Given the description of an element on the screen output the (x, y) to click on. 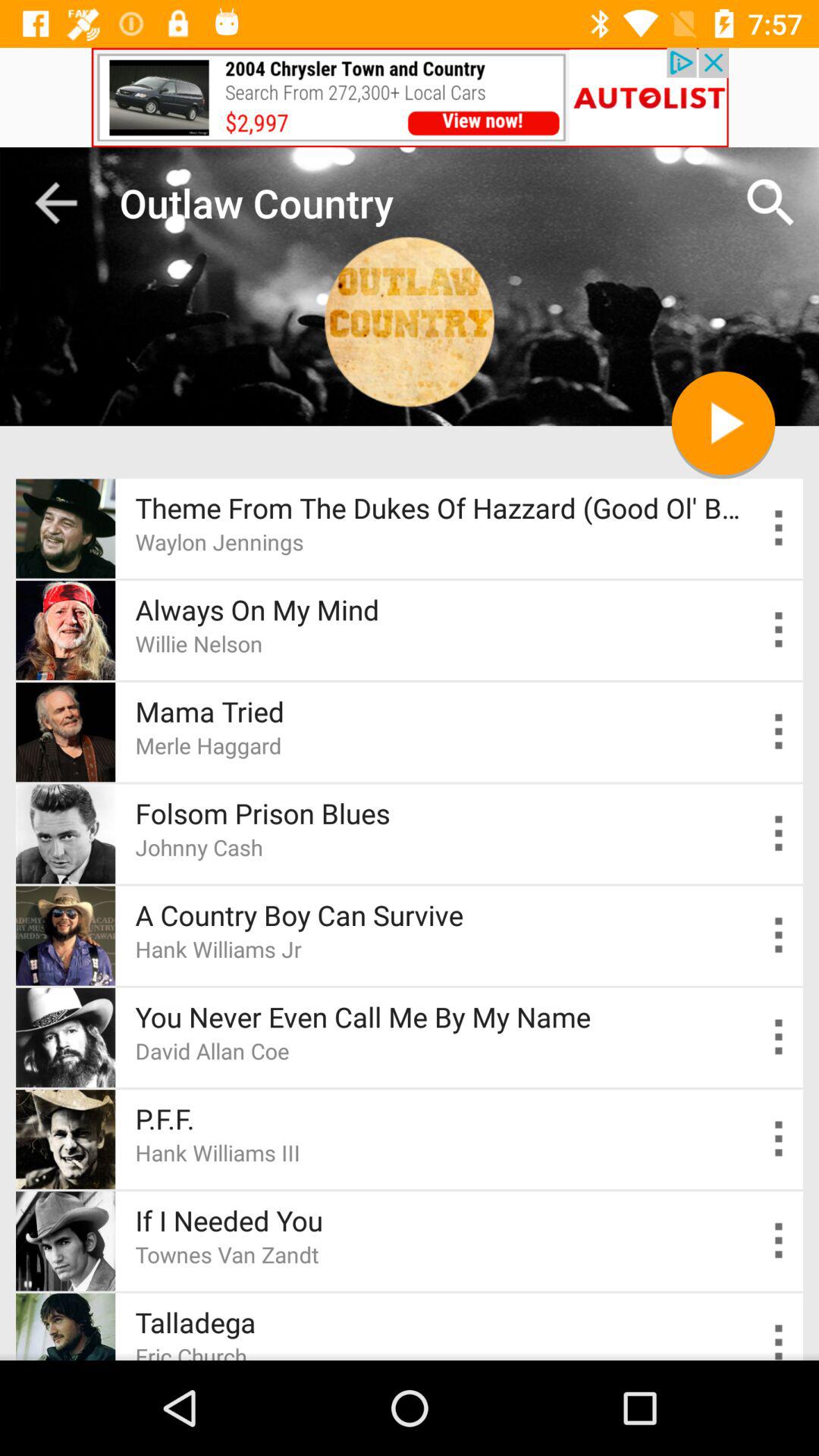
more options (779, 1339)
